Given the description of an element on the screen output the (x, y) to click on. 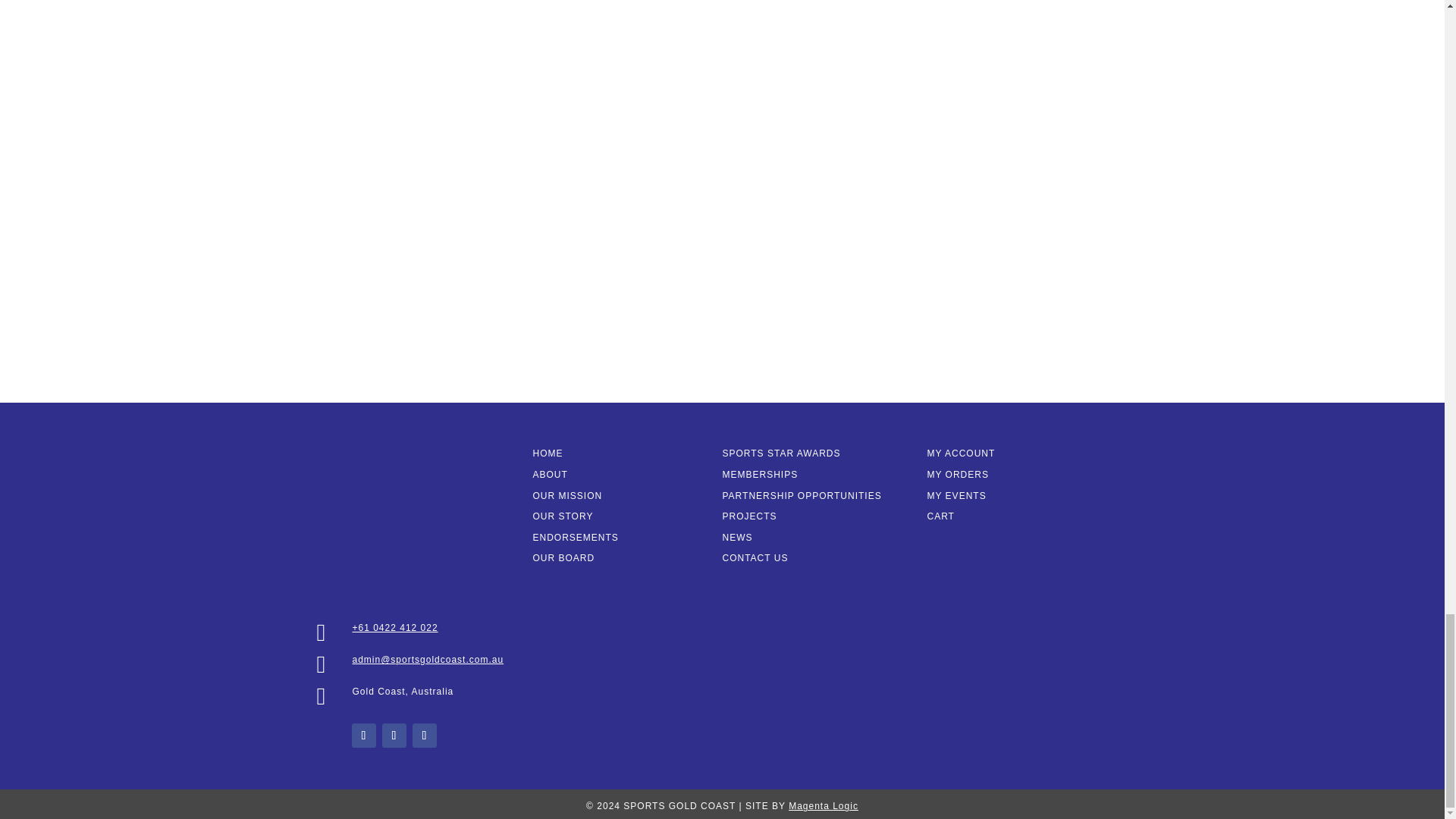
Follow on Instagram (393, 735)
Follow on X (424, 735)
Follow on Facebook (363, 735)
